Given the description of an element on the screen output the (x, y) to click on. 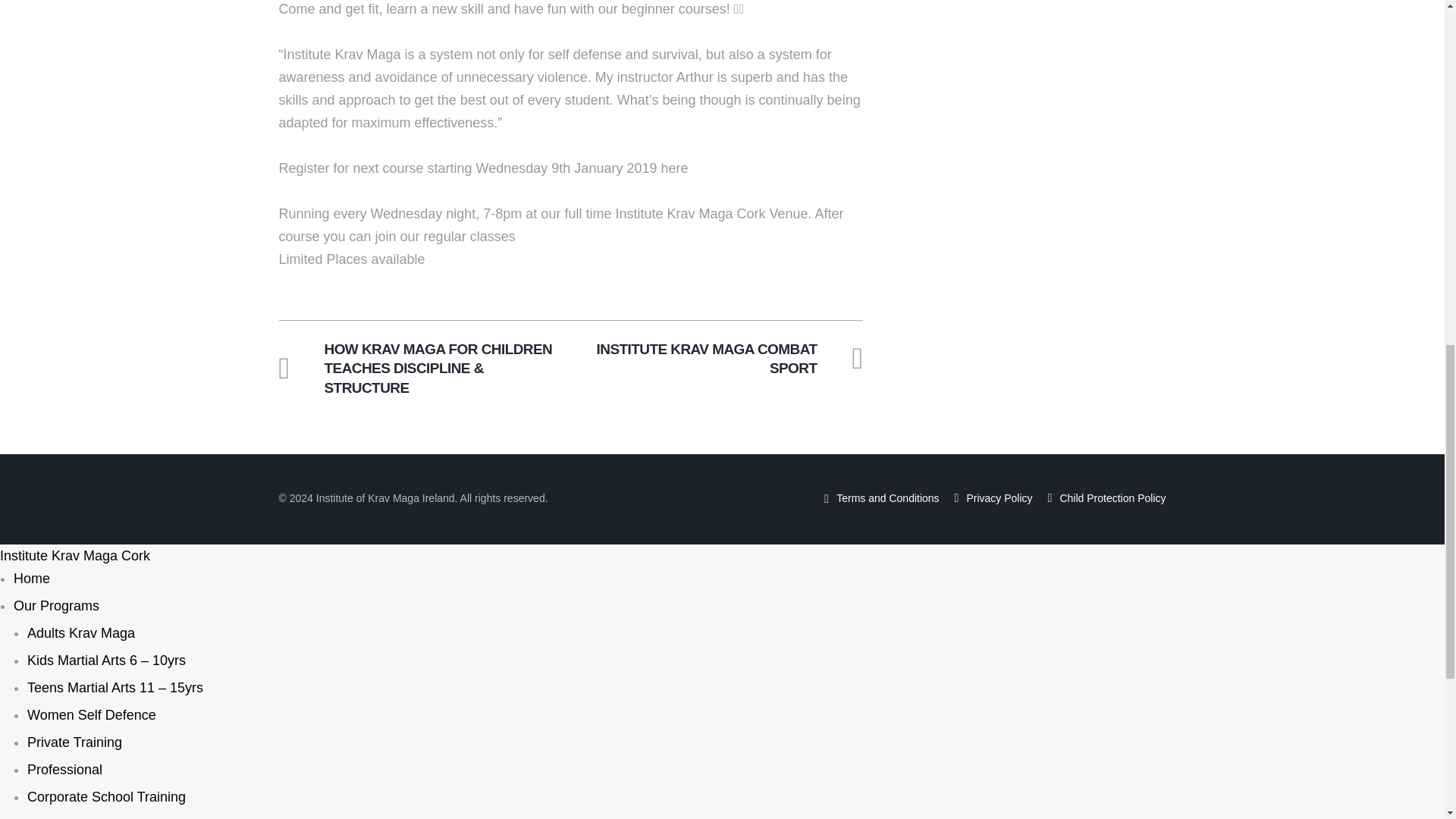
Terms and Conditions (887, 498)
Privacy Policy (999, 498)
Child Protection Policy (1112, 498)
INSTITUTE KRAV MAGA COMBAT SPORT (722, 358)
